Given the description of an element on the screen output the (x, y) to click on. 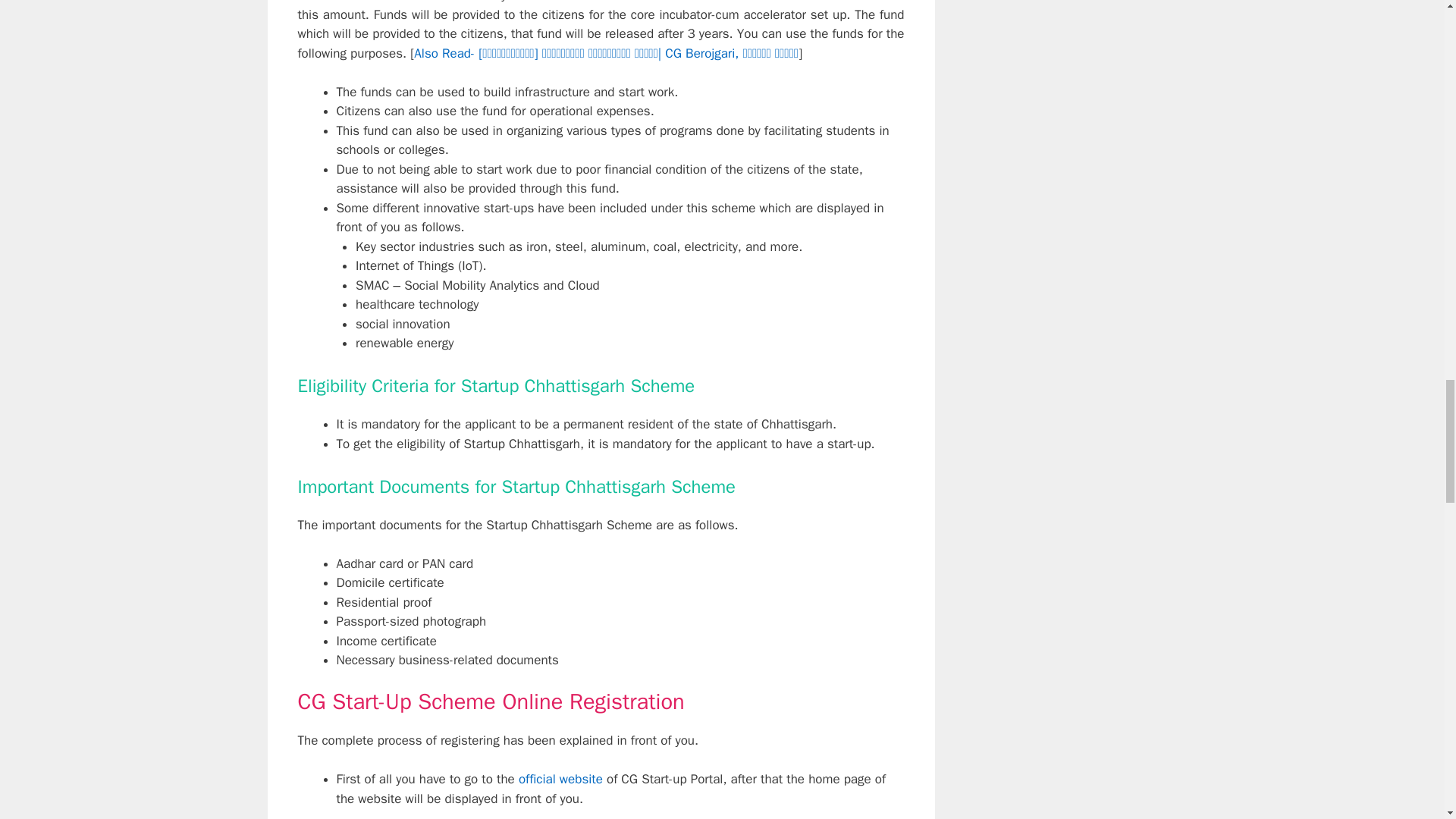
official website (560, 779)
